Given the description of an element on the screen output the (x, y) to click on. 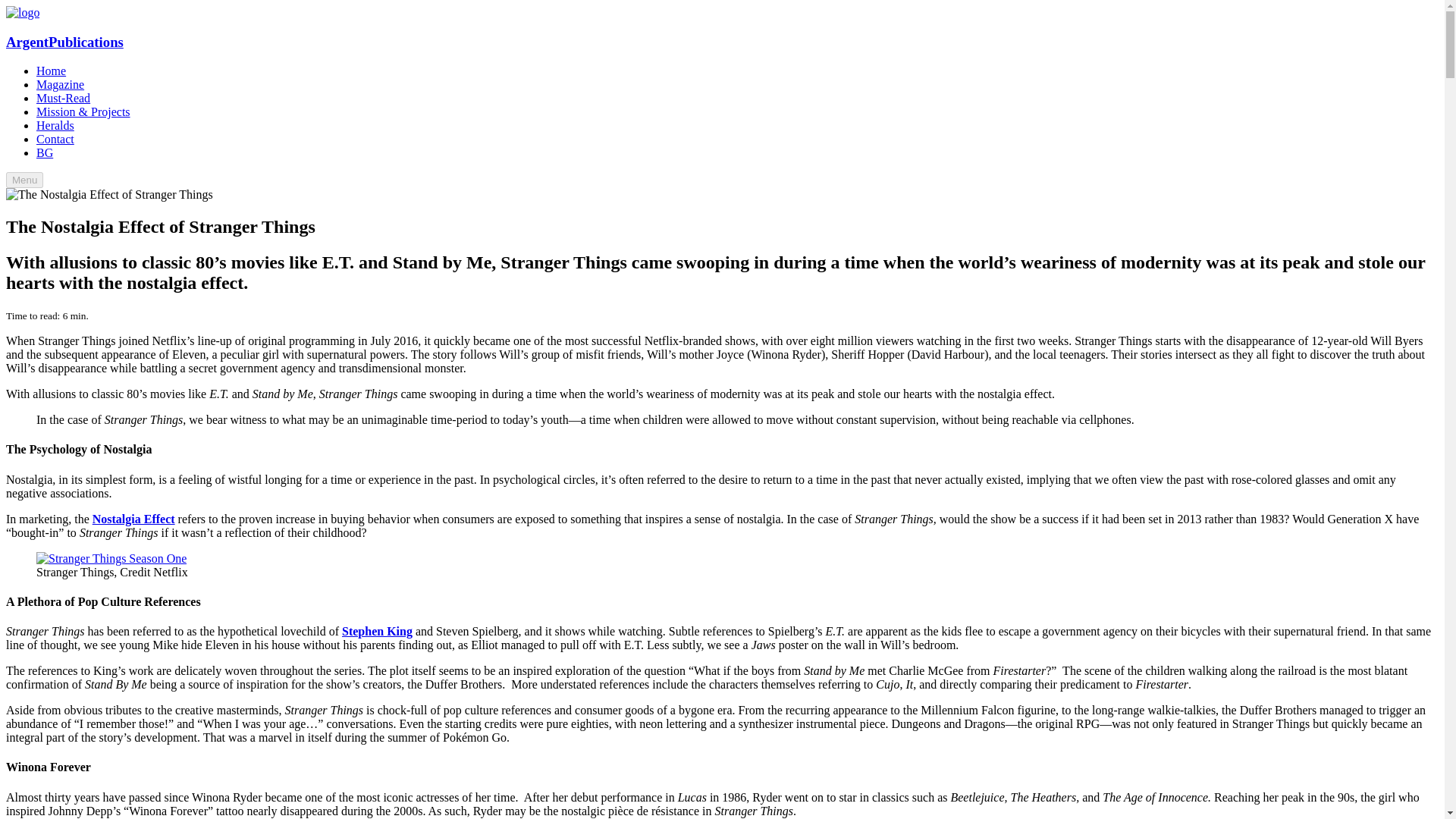
Heralds (55, 124)
Contact (55, 138)
Nostalgia Effect (133, 518)
Home (50, 70)
Must-Read (63, 97)
Menu (24, 179)
BG (44, 152)
Stephen King (377, 631)
Magazine (60, 83)
